Given the description of an element on the screen output the (x, y) to click on. 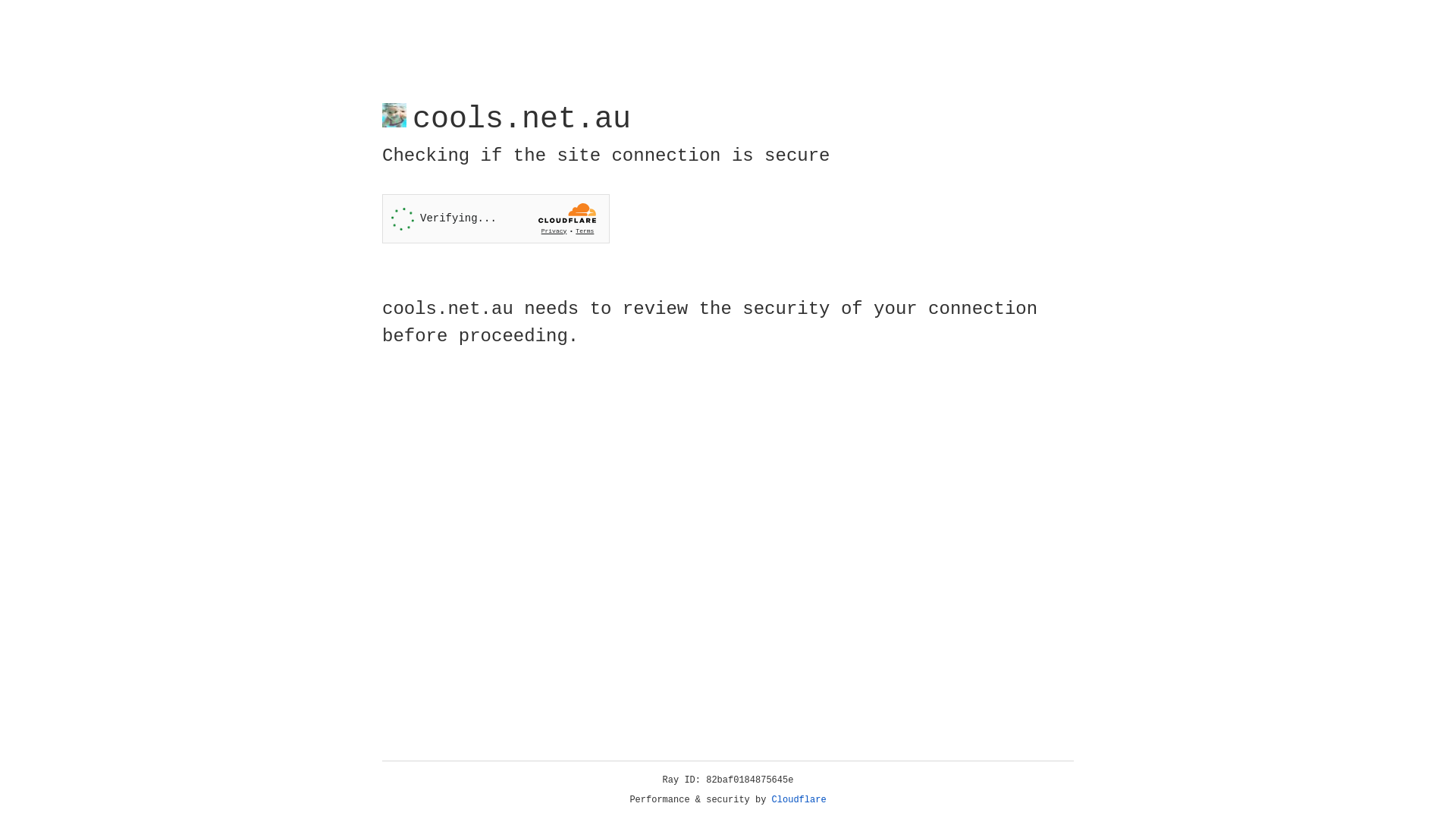
Cloudflare Element type: text (798, 799)
Widget containing a Cloudflare security challenge Element type: hover (495, 218)
